Given the description of an element on the screen output the (x, y) to click on. 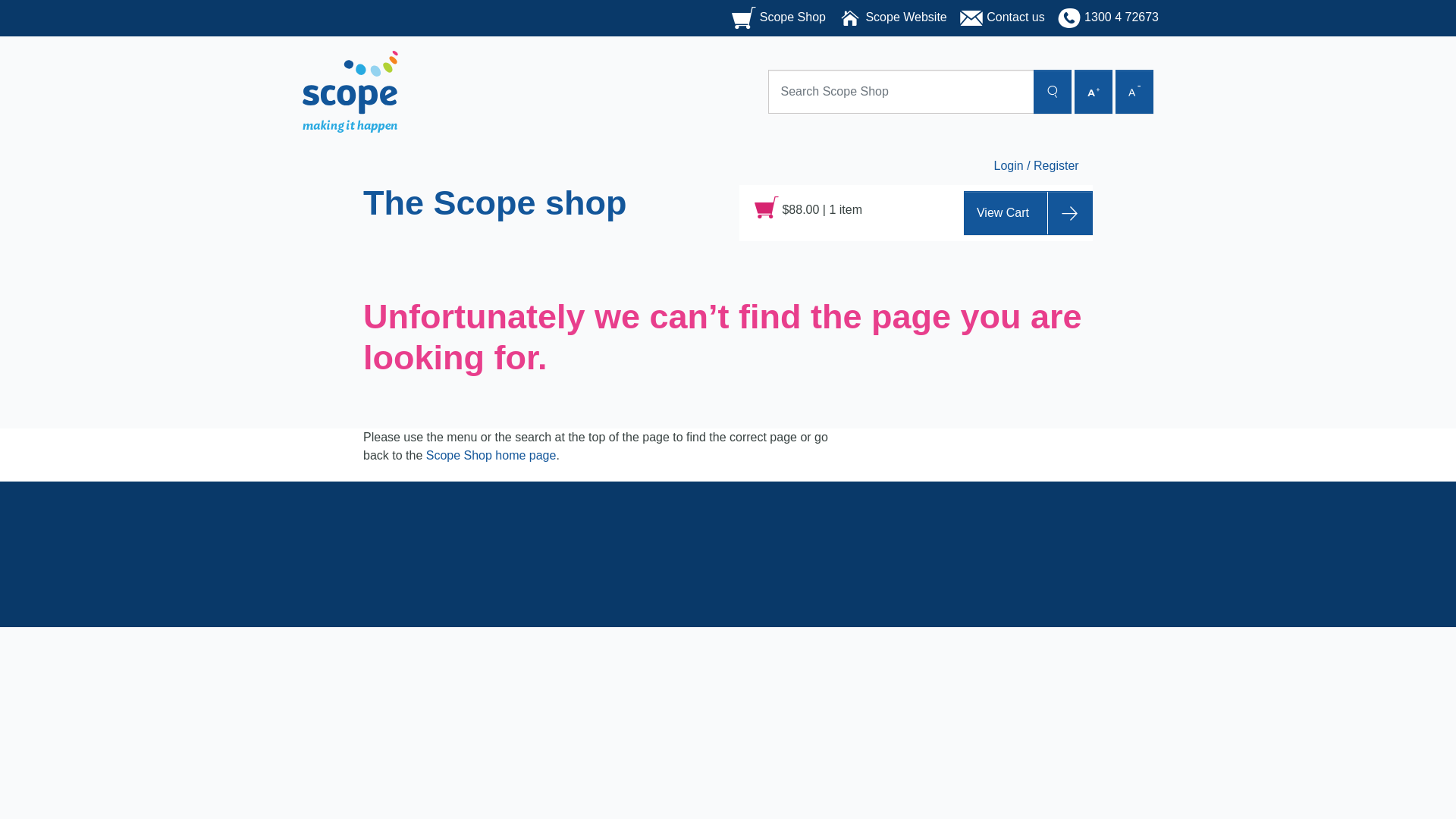
Scope Australia Home Element type: hover (350, 91)
Login / Register Element type: text (1035, 165)
Scope Website Element type: text (892, 18)
1300 4 72673 Element type: text (1107, 18)
Contact us Element type: text (1002, 18)
Scope Shop home page Element type: text (491, 456)
Scope Shop Element type: text (778, 18)
View Cart Element type: text (1027, 213)
